Given the description of an element on the screen output the (x, y) to click on. 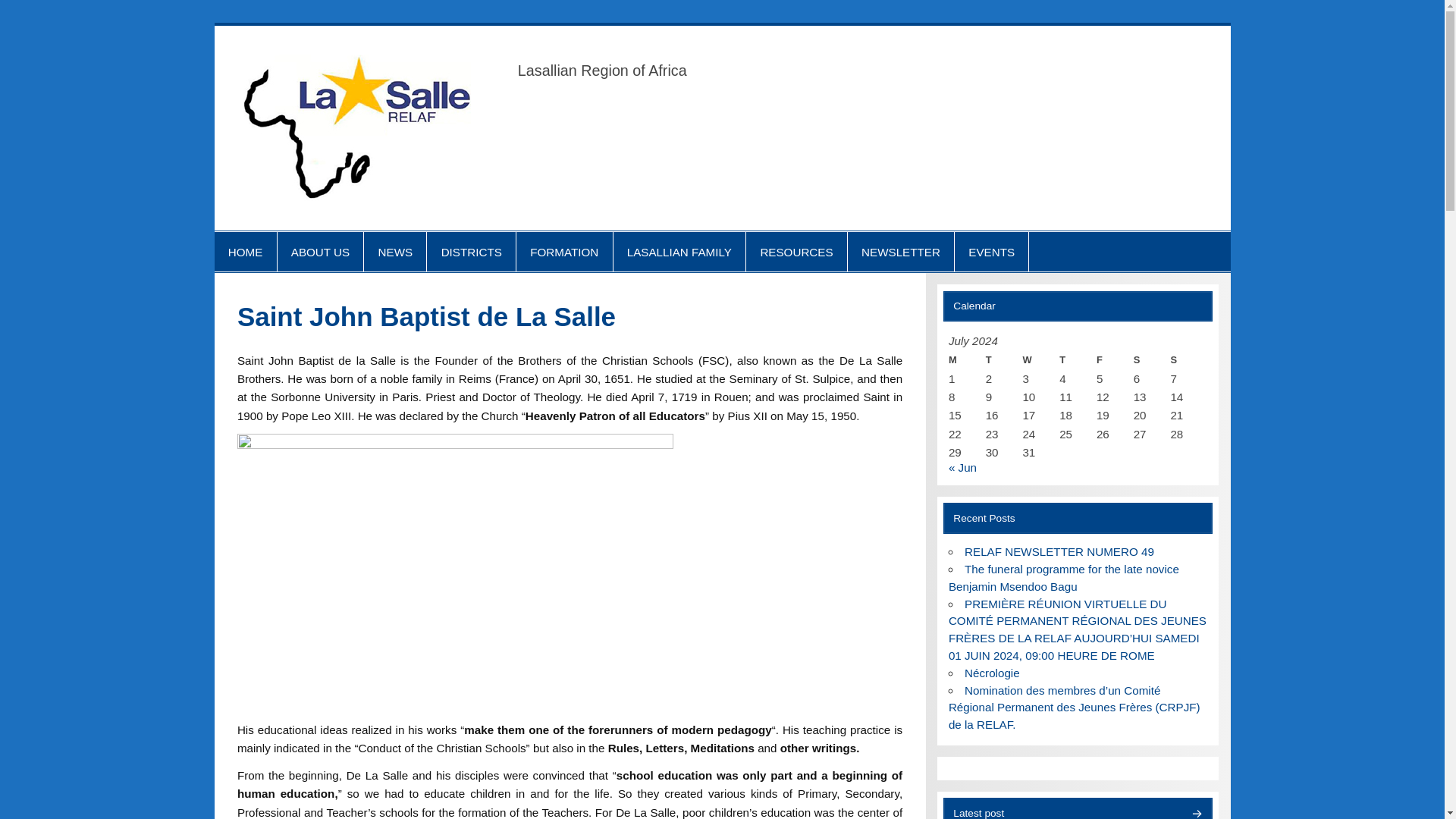
Thursday (1077, 360)
EVENTS (991, 251)
ABOUT US (321, 251)
Saturday (1152, 360)
Wednesday (1040, 360)
NEWSLETTER (900, 251)
Monday (967, 360)
FORMATION (563, 251)
LASALLIAN FAMILY (678, 251)
Sunday (1188, 360)
HOME (245, 251)
RELAF (535, 69)
NEWS (395, 251)
View all posts (1195, 813)
Friday (1115, 360)
